Given the description of an element on the screen output the (x, y) to click on. 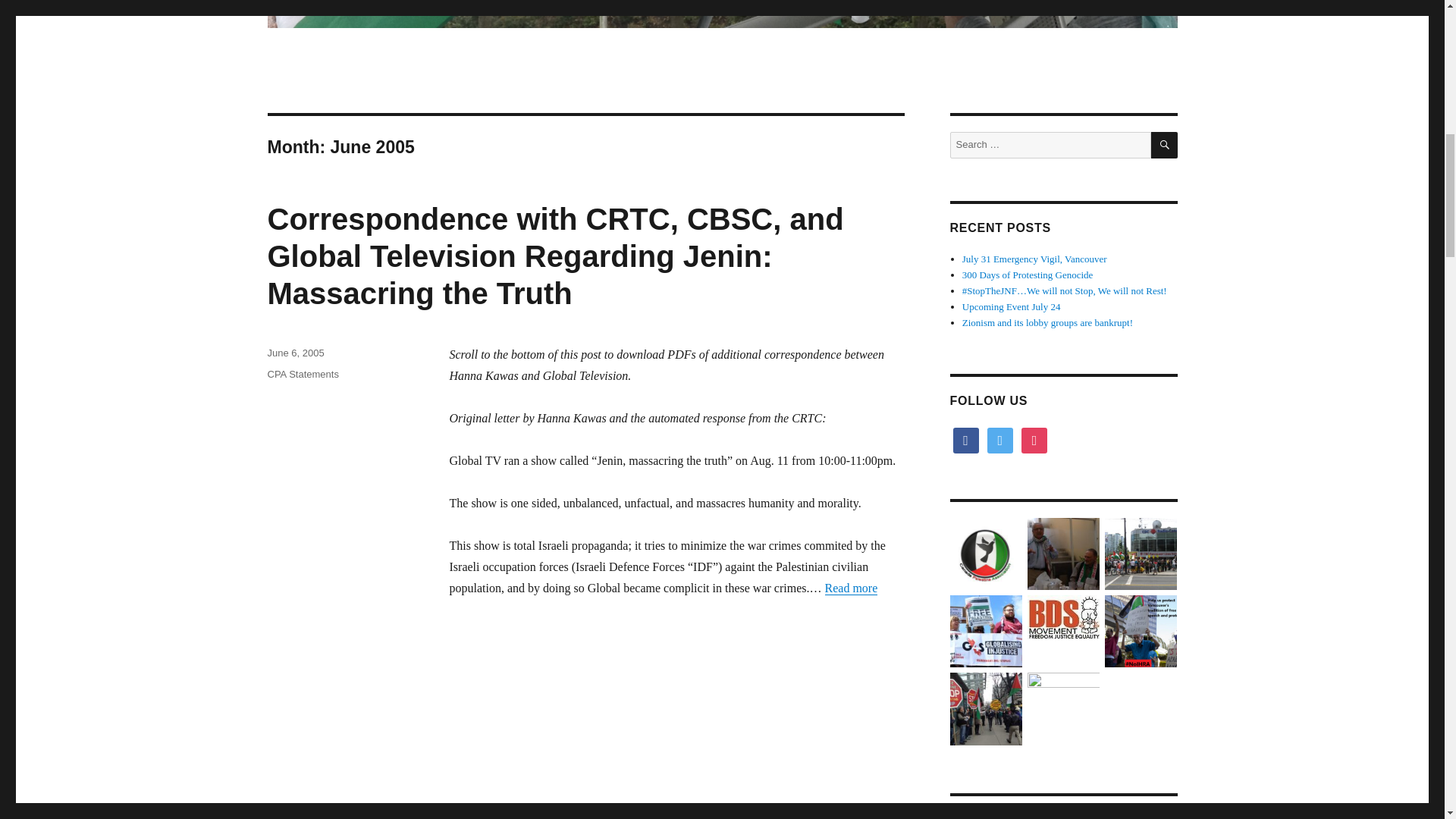
Twitter (1000, 439)
June 6, 2005 (294, 352)
Zionism and its lobby groups are bankrupt! (1047, 322)
Read more (851, 587)
300 Days of Protesting Genocide (1027, 274)
twitter (1000, 439)
CPA Statements (301, 374)
SEARCH (1164, 144)
Upcoming Event July 24 (1011, 306)
Facebook (965, 439)
